Given the description of an element on the screen output the (x, y) to click on. 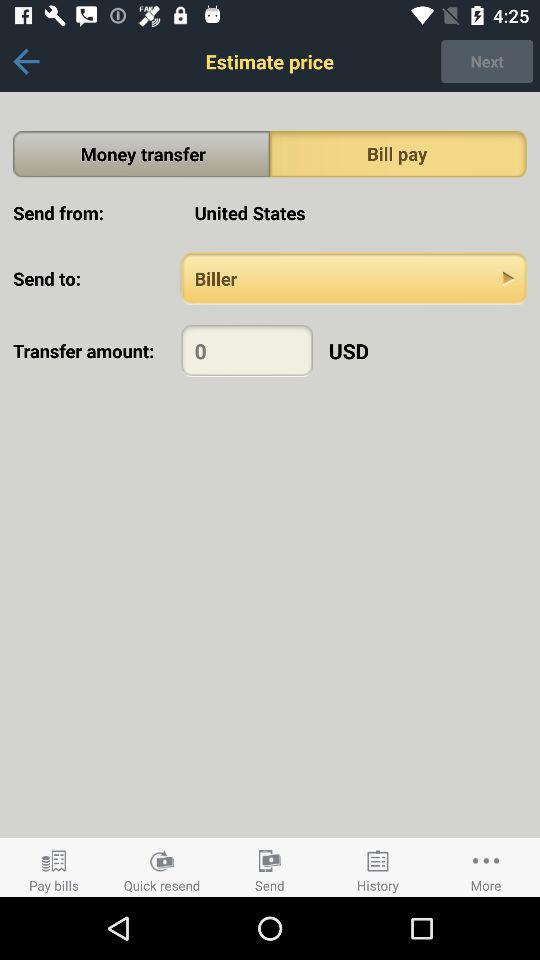
enter dollar amount to transfer (246, 350)
